Given the description of an element on the screen output the (x, y) to click on. 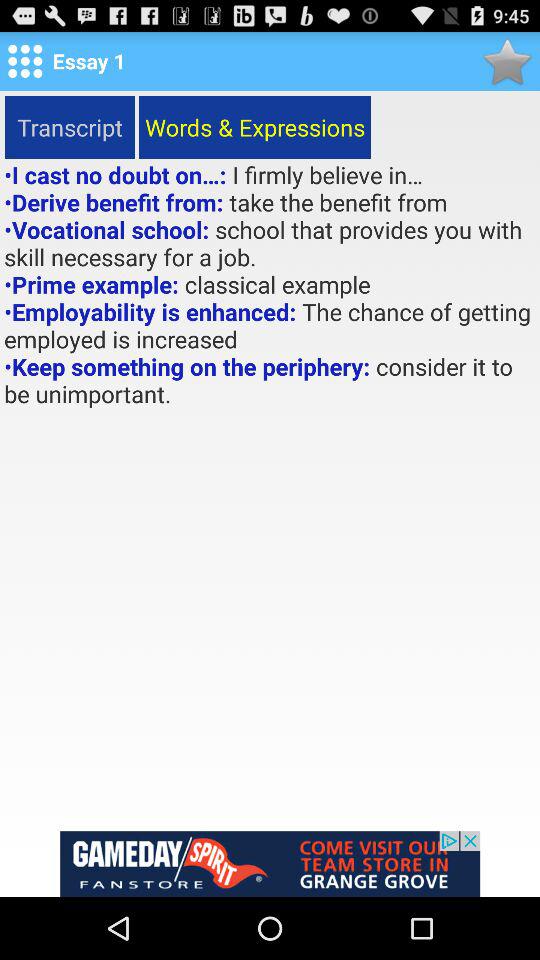
more options (25, 61)
